Given the description of an element on the screen output the (x, y) to click on. 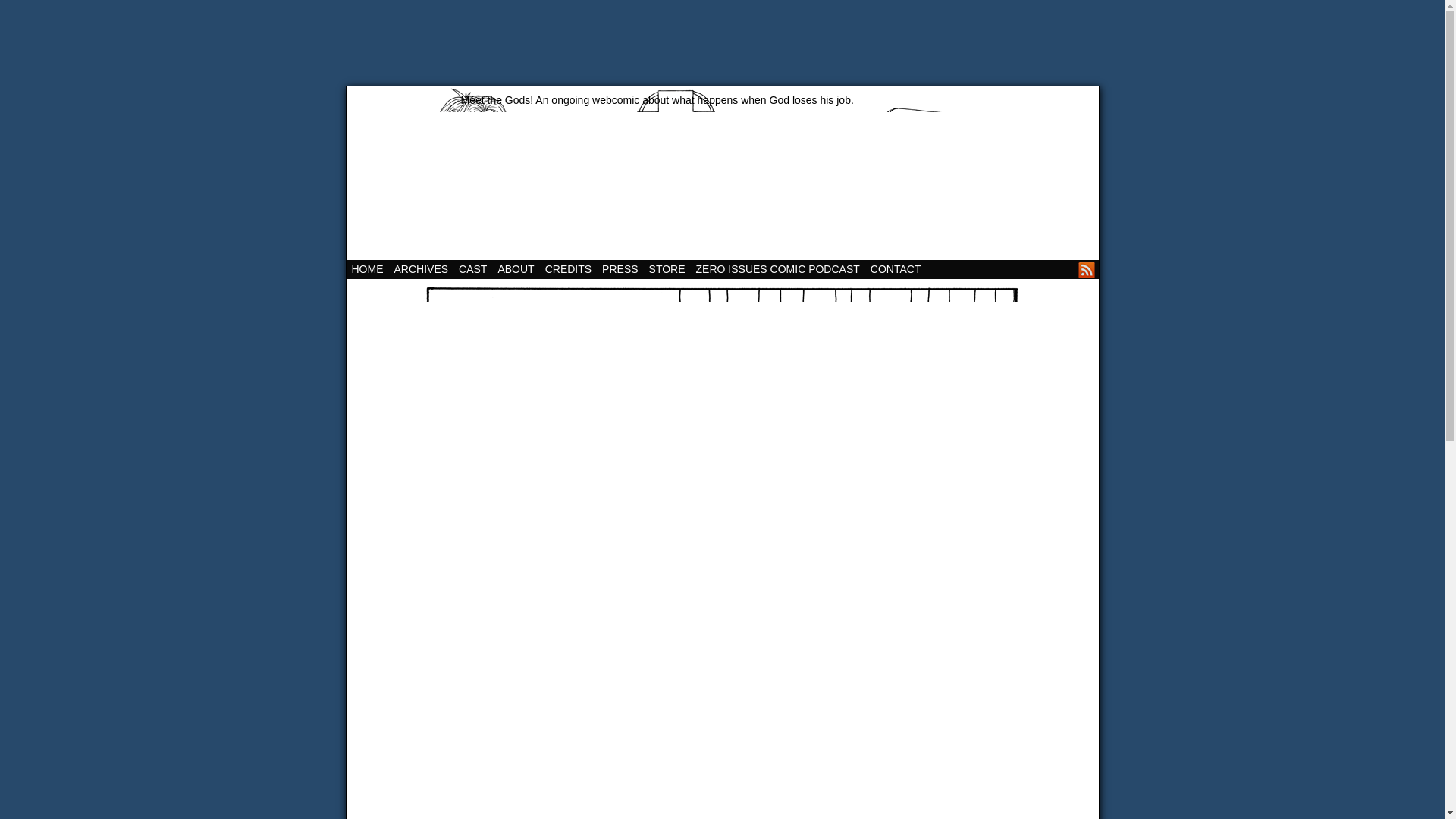
CREDITS (568, 269)
RSS (1086, 269)
ABOUT (515, 269)
EMAIL (1067, 269)
ZERO ISSUES COMIC PODCAST (777, 269)
RSS Feed (1086, 269)
Email me (1067, 269)
HOME (367, 269)
CAST (472, 269)
STORE (666, 269)
PRESS (619, 269)
ARCHIVES (420, 269)
CONTACT (895, 269)
